Given the description of an element on the screen output the (x, y) to click on. 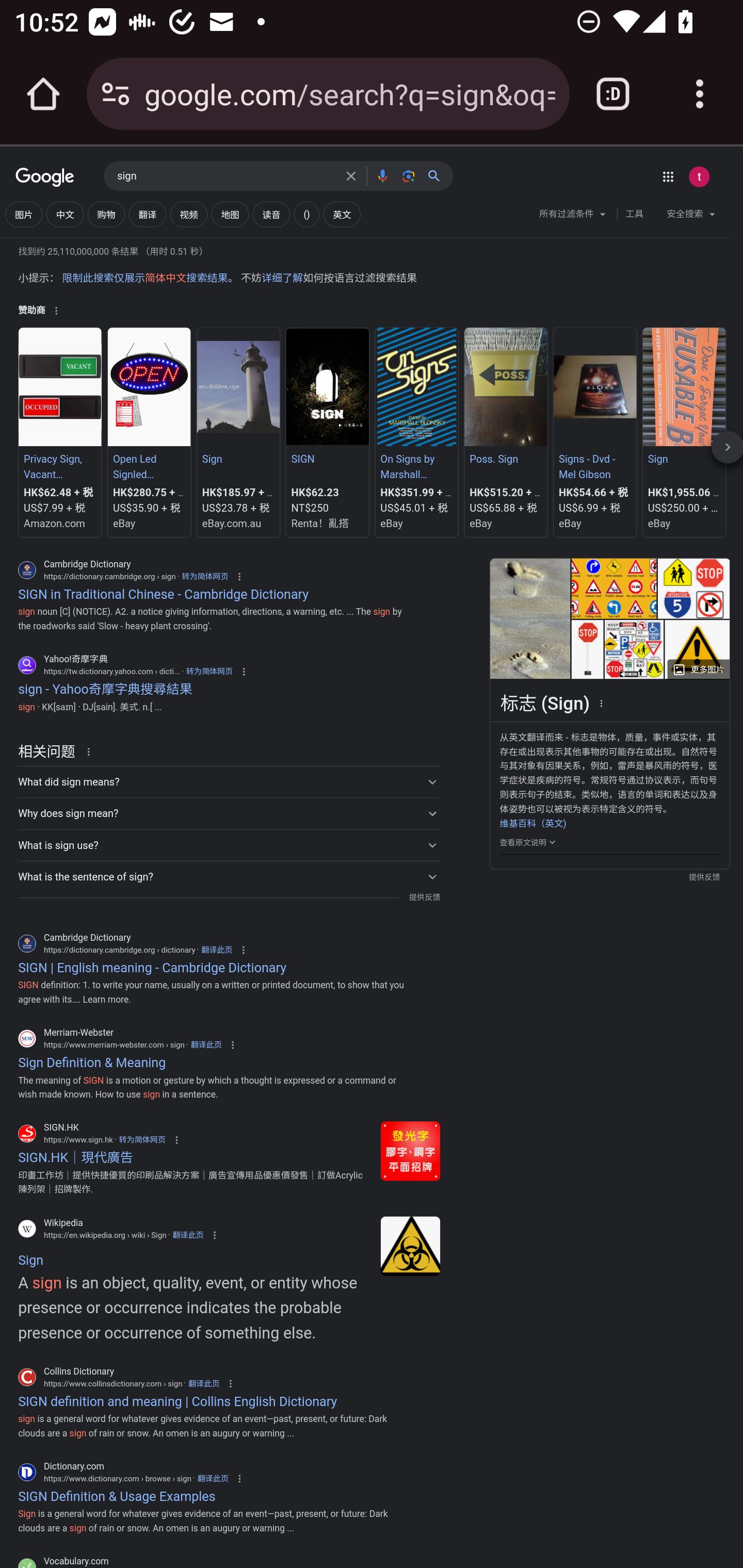
Open the home page (43, 93)
Connection is secure (115, 93)
Switch or close tabs (612, 93)
Customize and control Google Chrome (699, 93)
清除 (351, 175)
按语音搜索 (382, 175)
按图搜索 (408, 175)
搜索 (437, 175)
Google 应用 (667, 176)
Google 账号： test appium (testappium002@gmail.com) (698, 176)
Google (45, 178)
sign (225, 176)
图片 (23, 213)
添加“中文” 中文 (64, 213)
购物 (105, 213)
添加“翻译” 翻译 (147, 213)
视频 (188, 213)
地图 (229, 213)
添加“读音” 读音 (271, 213)
添加“()” () (306, 213)
添加“英文” 英文 (342, 213)
所有过滤条件 (572, 216)
工具 (633, 213)
安全搜索 (690, 216)
限制此搜索仅展示简体中文搜索结果 限制此搜索仅展示 简体中文 搜索结果 (144, 278)
详细了解 (281, 278)
为什么会显示该广告？ (55, 311)
Sign在eBay.com.au的售价仅为 HK$185.97 + 税 (238, 432)
SIGN在Renta！亂搭的售价仅为 HK$62.23 (327, 432)
Poss. Sign在eBay的售价仅为 HK$515.20 + 税 (505, 432)
Signs - Dvd - Mel Gibson在eBay的售价仅为 HK$54.66 + 税 (594, 432)
Sign在eBay的售价仅为 HK$1,955.06 + 税 (683, 432)
Sign Sign Sign (238, 459)
SIGN (327, 459)
Poss. Sign Poss. Sign Poss. Sign (505, 459)
Sign (683, 459)
转为简体网页 (204, 576)
转为简体网页 (208, 670)
关于这条结果的详细信息 (91, 750)
What did sign means? (228, 781)
Why does sign mean? (228, 813)
What is sign use? (228, 844)
What is the sentence of sign? (228, 876)
提供反馈 (423, 897)
翻译此页 (216, 949)
翻译此页 (206, 1044)
www.sign (409, 1150)
转为简体网页 (141, 1139)
Sign (409, 1246)
翻译此页 (187, 1234)
翻译此页 (203, 1382)
翻译此页 (212, 1478)
